Given the description of an element on the screen output the (x, y) to click on. 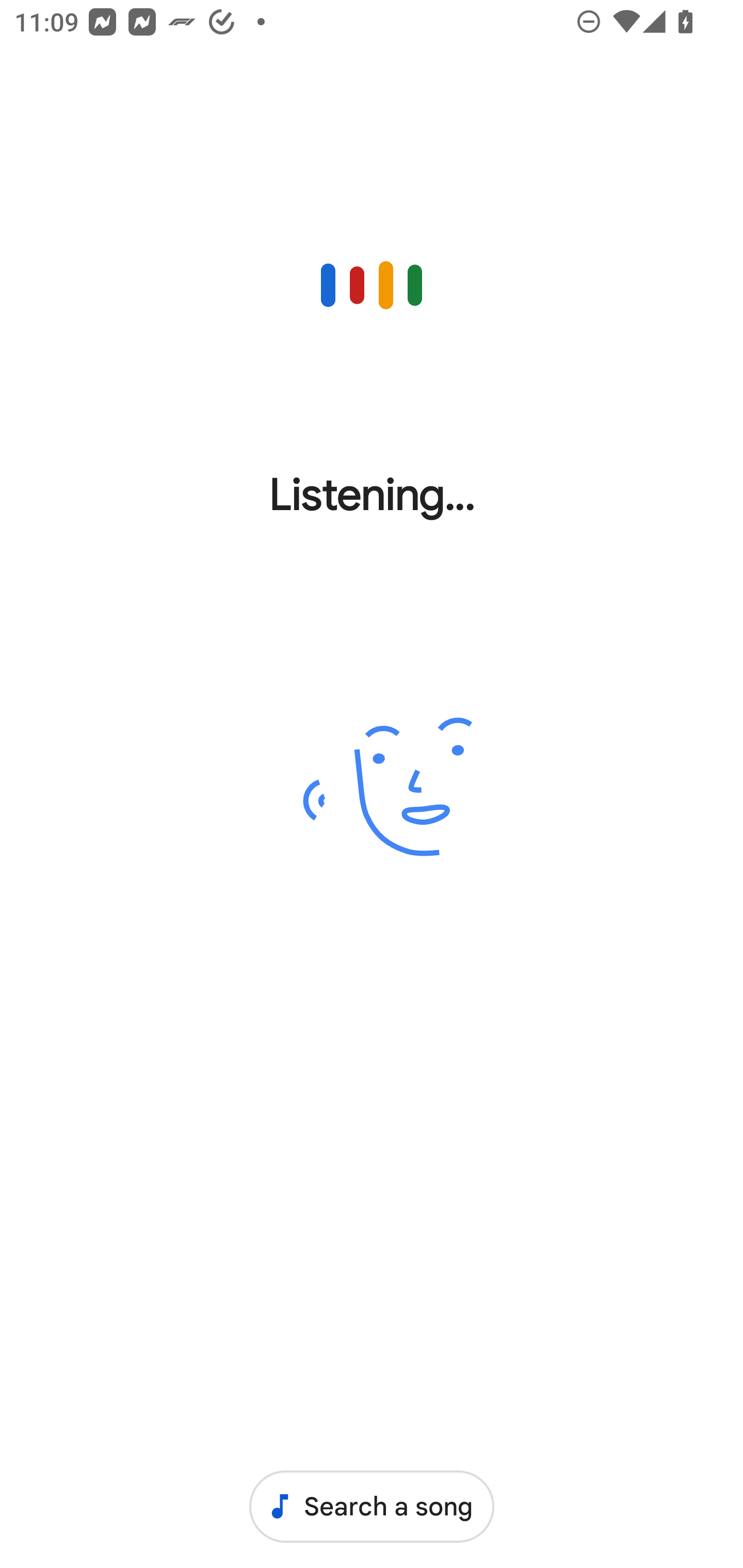
Search a song (371, 1505)
